Given the description of an element on the screen output the (x, y) to click on. 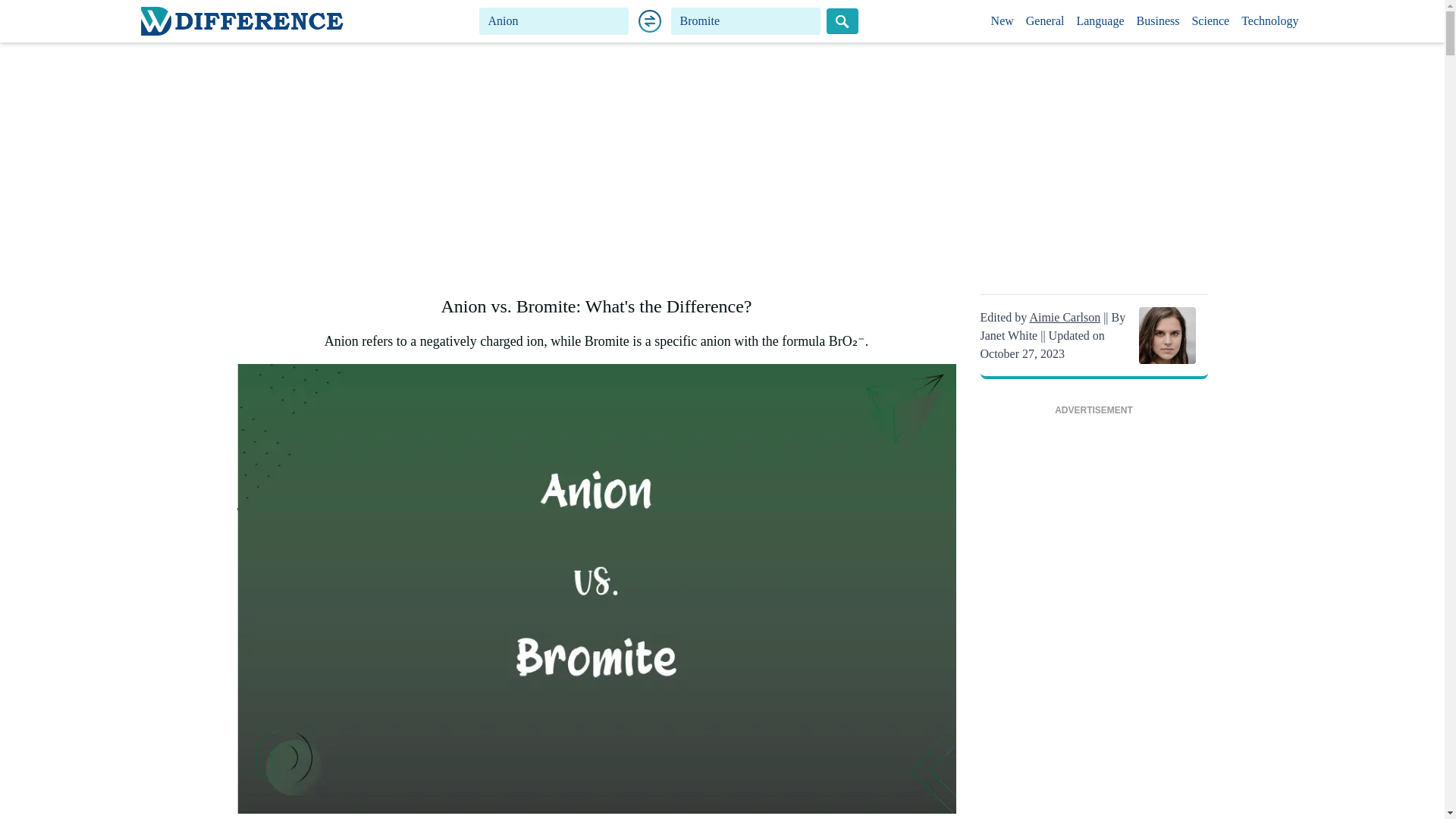
New (1002, 21)
Anion (553, 21)
Bromite (746, 21)
Business (1158, 21)
Science (1209, 21)
General (1045, 21)
Technology (1269, 21)
Language (1099, 21)
